Given the description of an element on the screen output the (x, y) to click on. 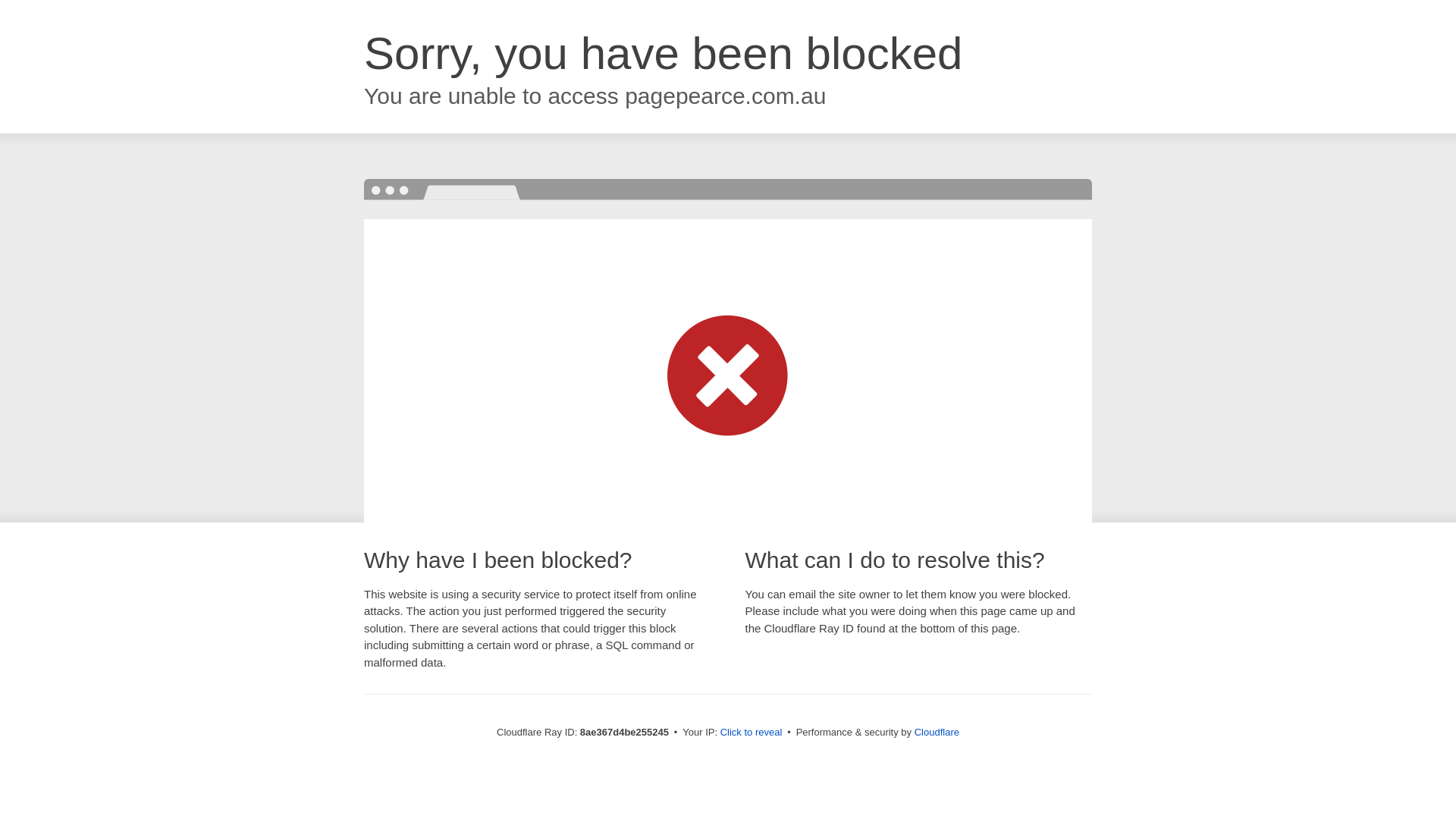
Cloudflare (936, 731)
Click to reveal (751, 732)
